Given the description of an element on the screen output the (x, y) to click on. 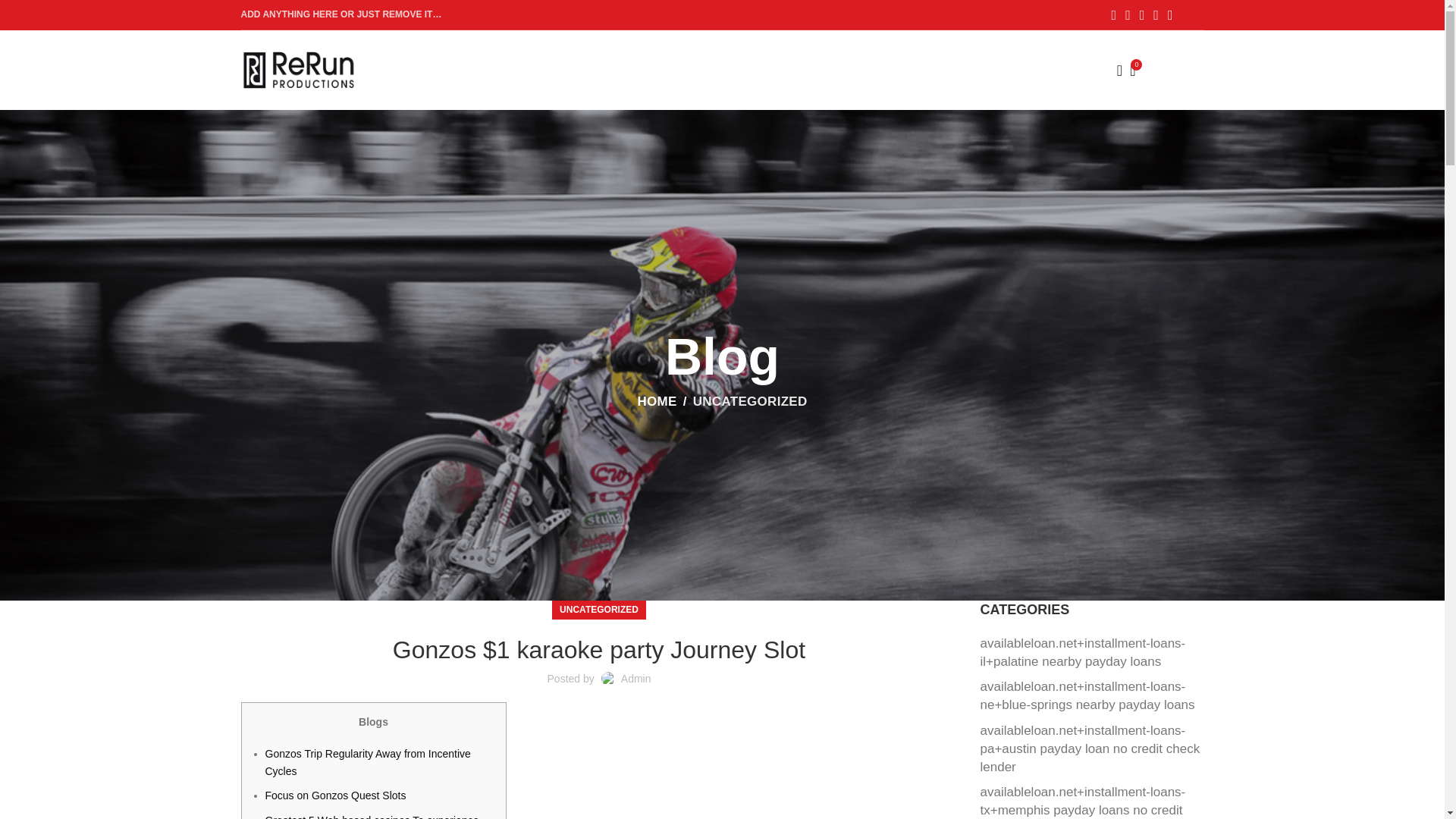
INDIVIDUALS (579, 54)
FINALS (764, 54)
Shopping cart (1153, 69)
MAJOR EVENTS (473, 54)
SUPERHEATS (680, 54)
